Given the description of an element on the screen output the (x, y) to click on. 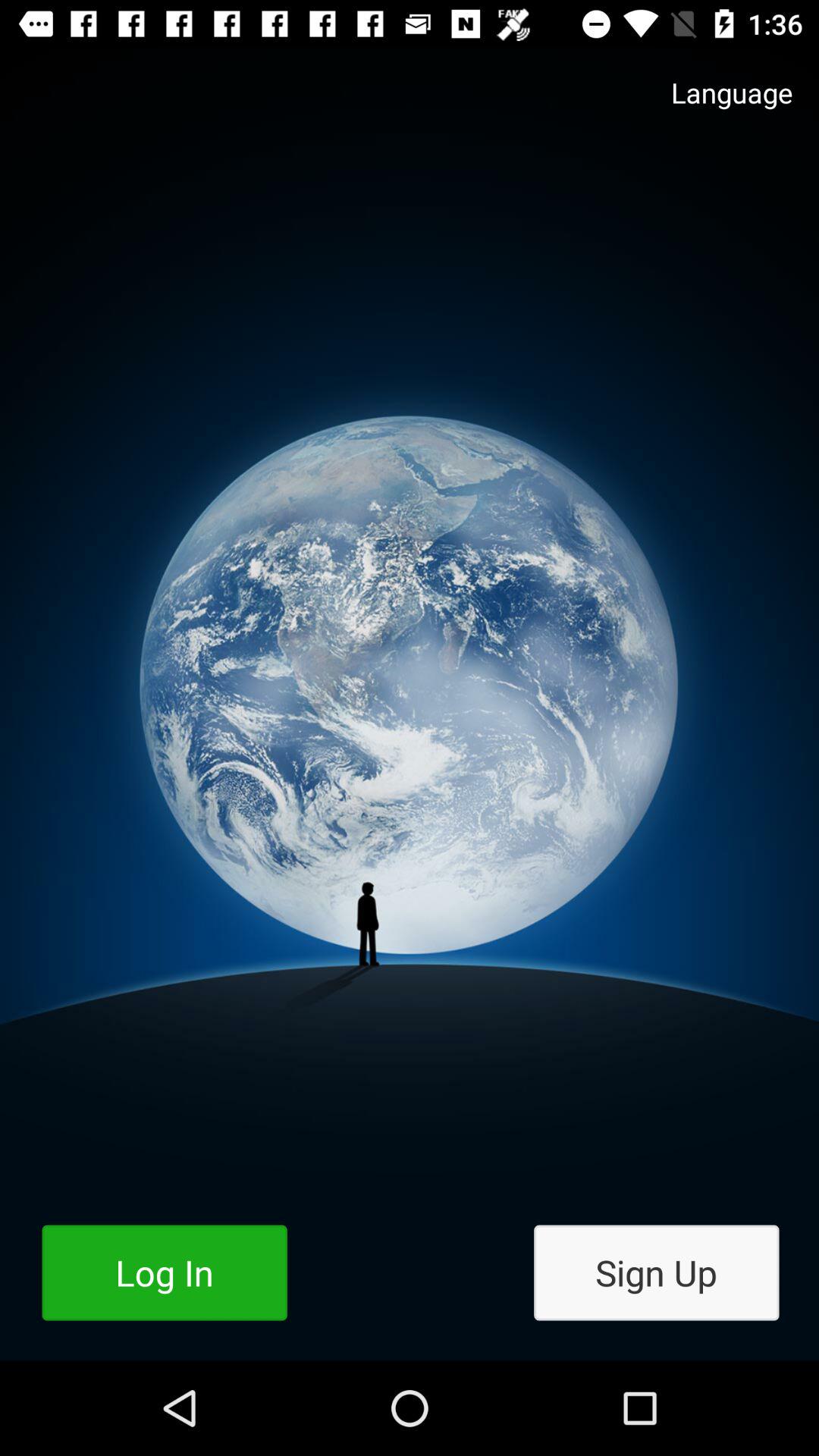
swipe until log in button (164, 1272)
